Given the description of an element on the screen output the (x, y) to click on. 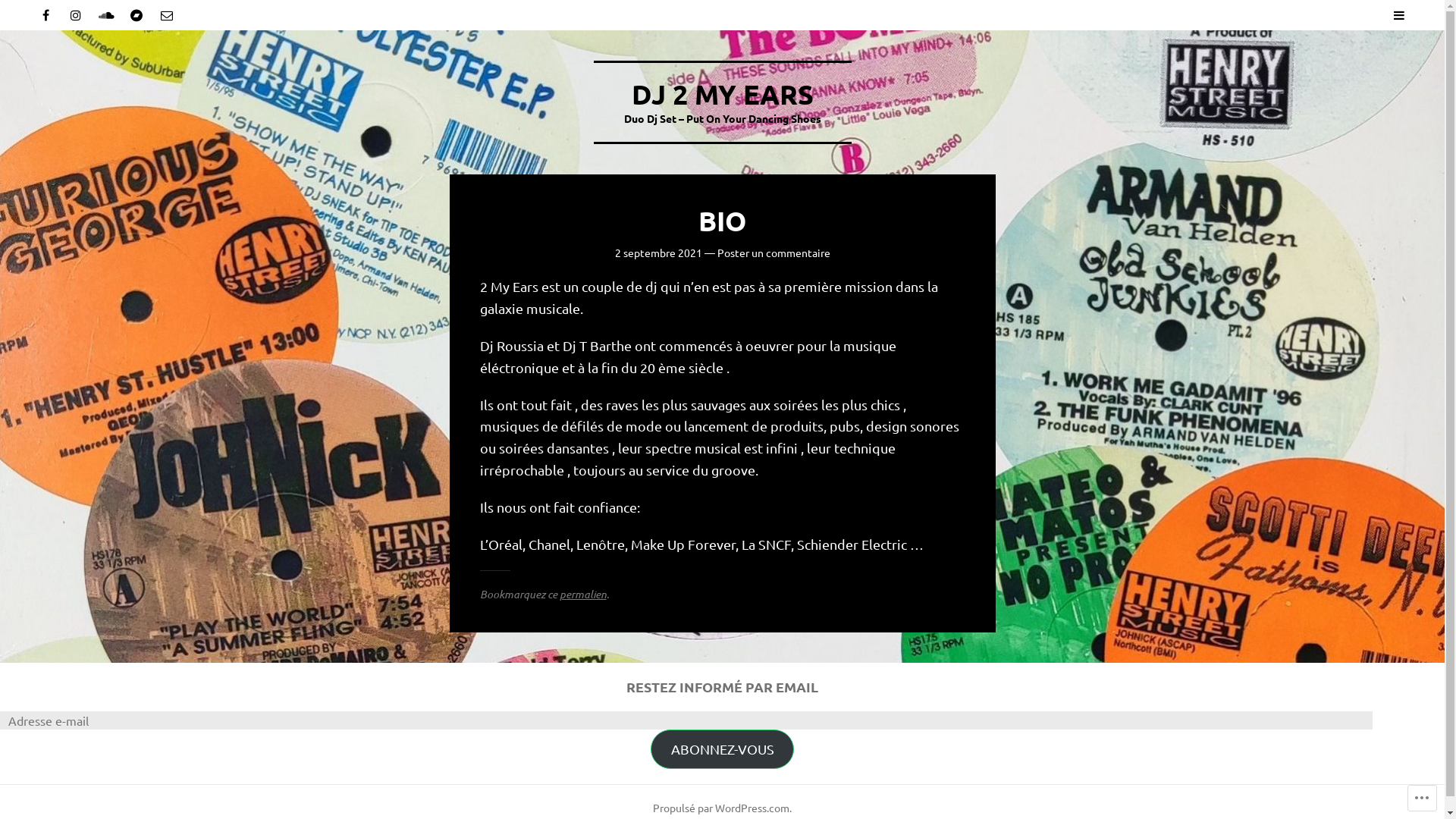
Bandcamp Element type: hover (136, 15)
ABONNEZ-VOUS Element type: text (722, 748)
Adresse de messagerie Element type: hover (166, 15)
DJ 2 MY EARS Element type: text (721, 93)
Instagram Element type: hover (75, 15)
permalien Element type: text (582, 593)
2 septembre 2021 Element type: text (657, 252)
Poster un commentaire Element type: text (773, 252)
Facebook Element type: hover (45, 15)
SoundCloud Element type: hover (106, 15)
BIO Element type: text (722, 220)
